Given the description of an element on the screen output the (x, y) to click on. 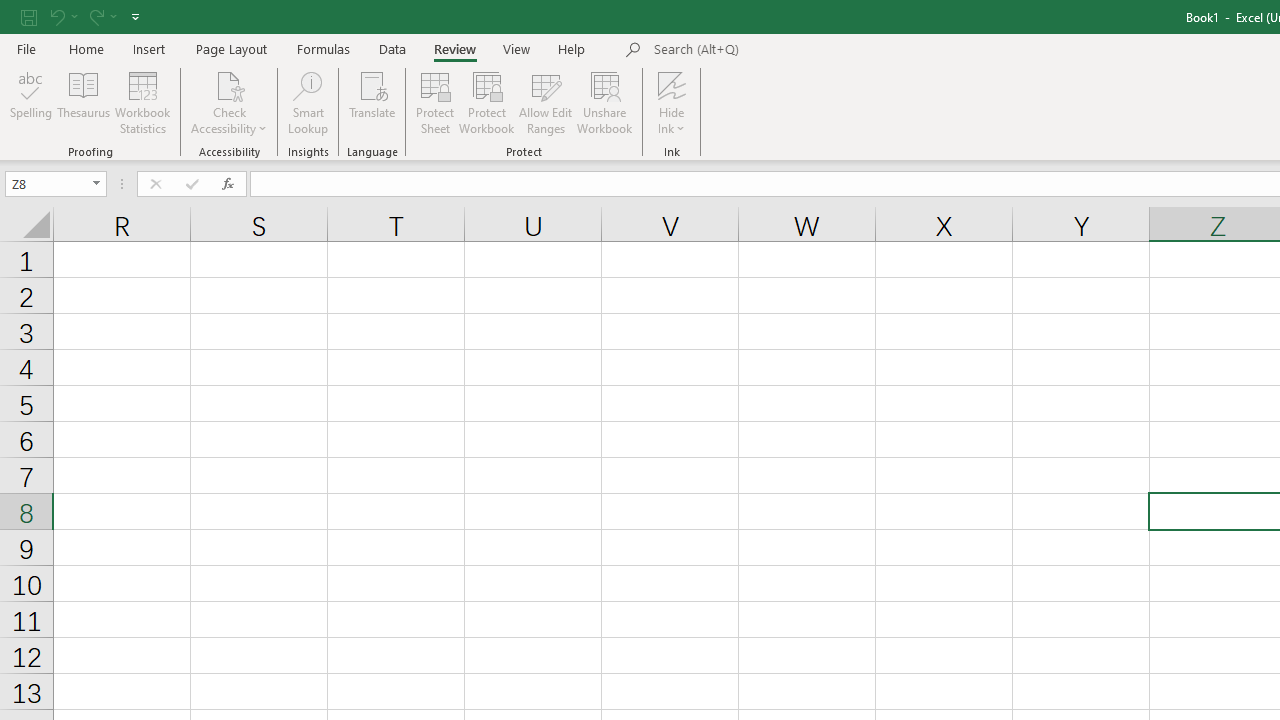
Smart Lookup (308, 102)
Thesaurus... (83, 102)
Check Accessibility (229, 102)
Spelling... (31, 102)
Protect Sheet... (434, 102)
